Given the description of an element on the screen output the (x, y) to click on. 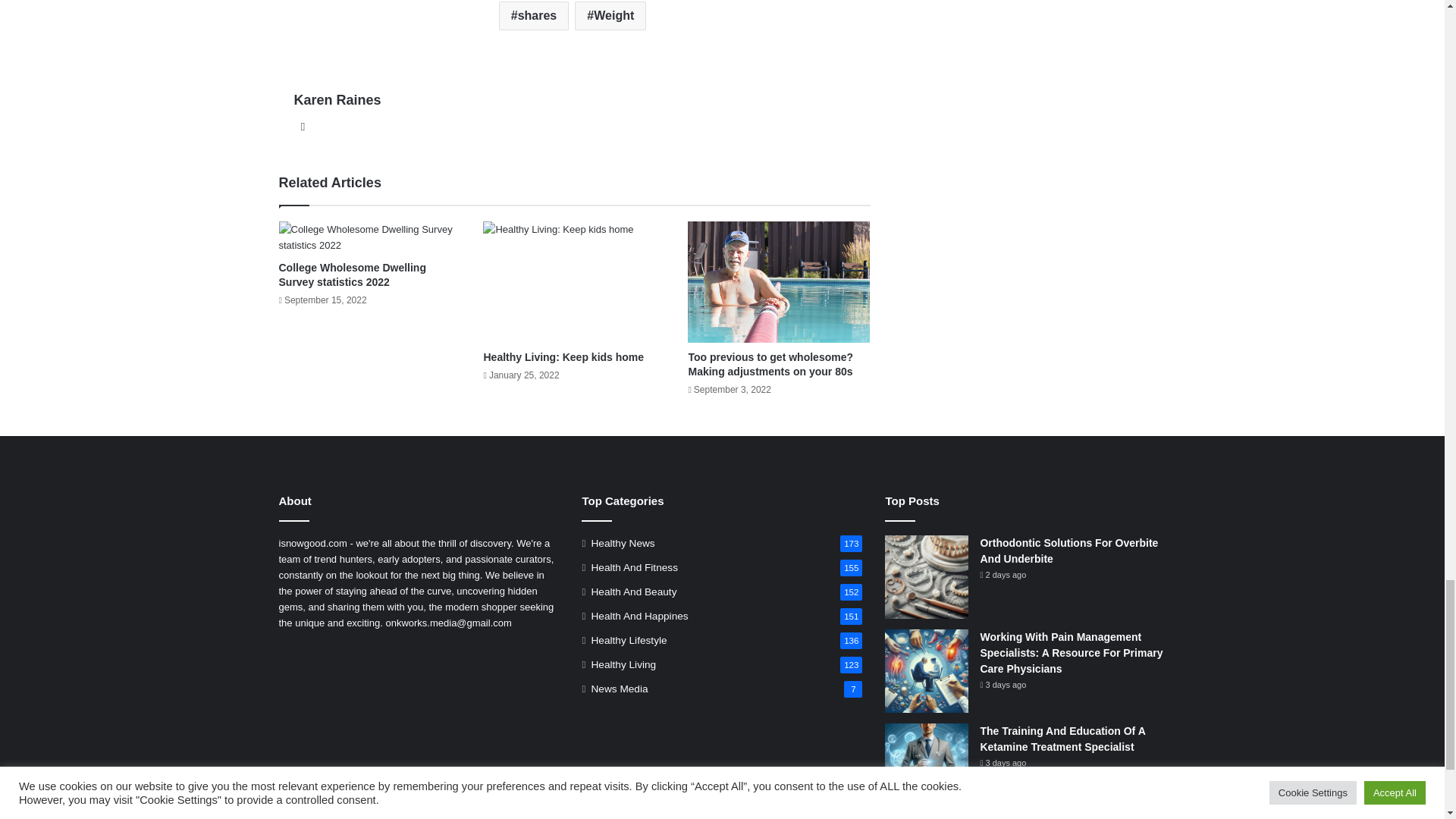
College Wholesome Dwelling Survey statistics 2022 (370, 237)
Healthy Living: Keep kids home (574, 282)
College Wholesome Dwelling Survey statistics 2022 (352, 274)
Healthy Living: Keep kids home (563, 357)
shares (534, 15)
Weight (610, 15)
Karen Raines (337, 99)
Website (303, 126)
